Given the description of an element on the screen output the (x, y) to click on. 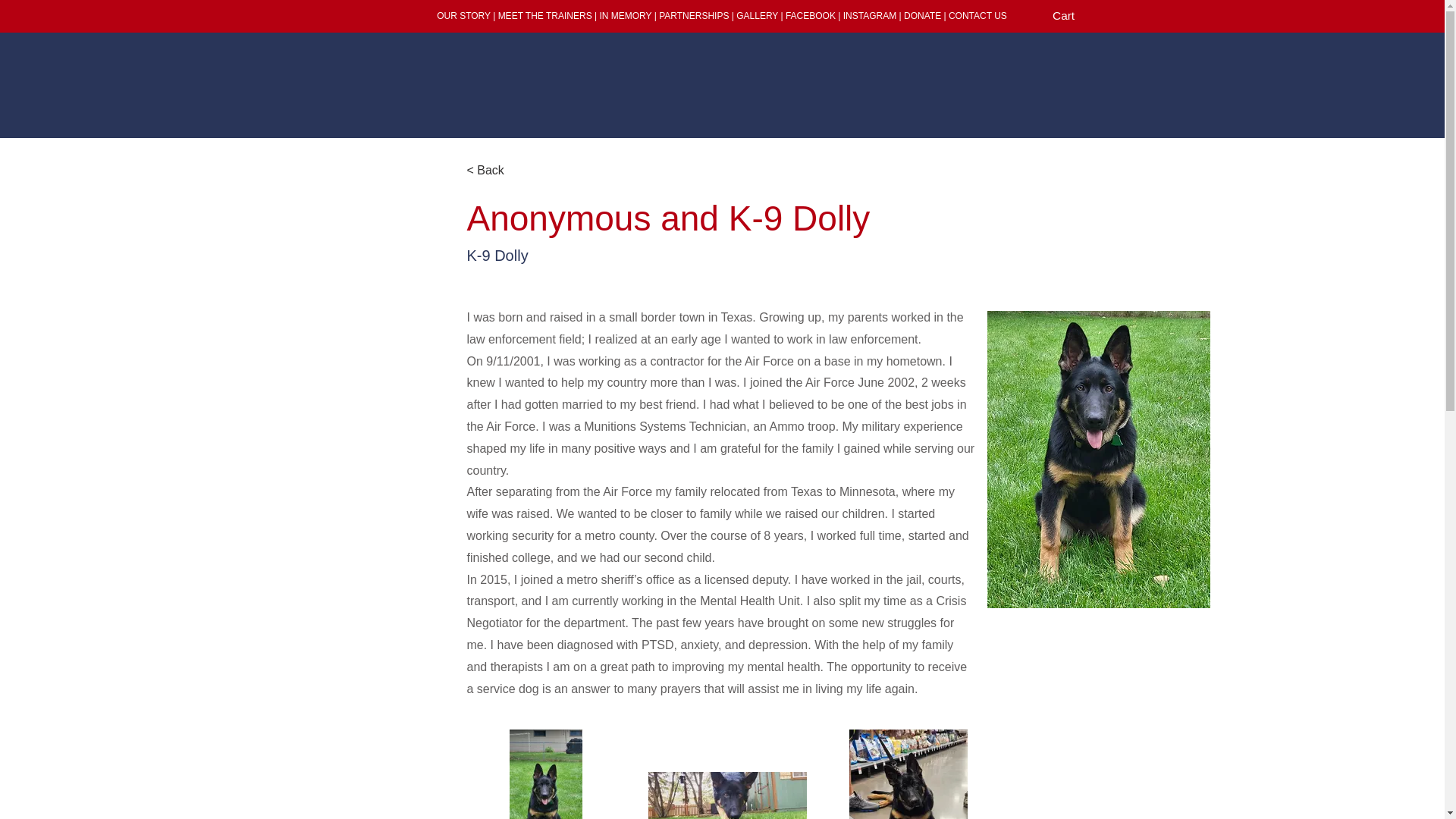
Cart (1073, 15)
FACEBOOK (810, 15)
IN MEMORY (624, 15)
Cart (1073, 15)
INSTAGRAM (869, 15)
MEET THE TRAINERS (544, 15)
PARTNERSHIPS (694, 15)
DONATE (922, 15)
GALLERY (756, 15)
CONTACT US (978, 15)
OUR STORY (463, 15)
